Given the description of an element on the screen output the (x, y) to click on. 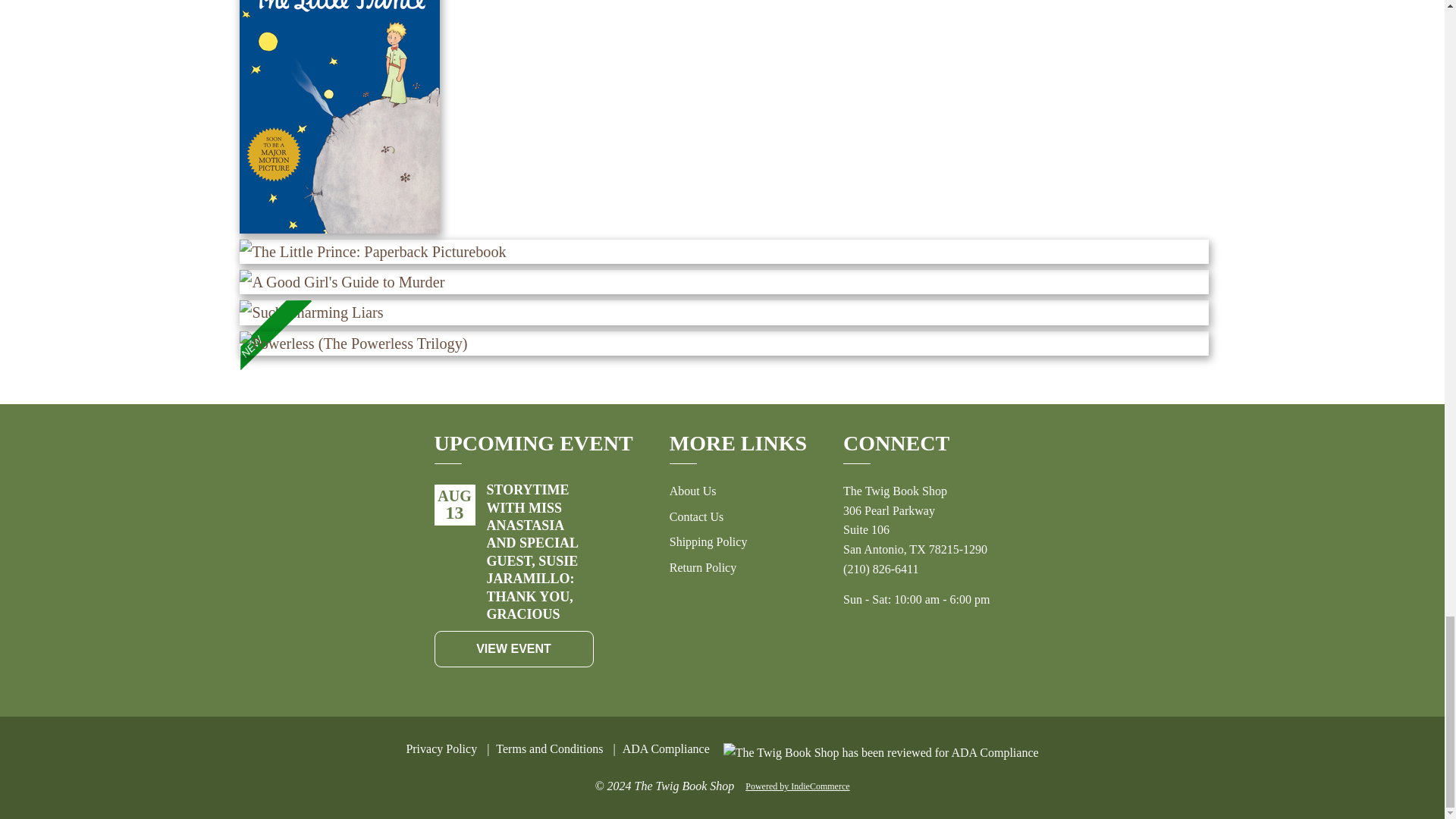
Connect with Instagram (926, 663)
Connect with Tik Tok (959, 663)
Connect with Facebook (892, 663)
